Given the description of an element on the screen output the (x, y) to click on. 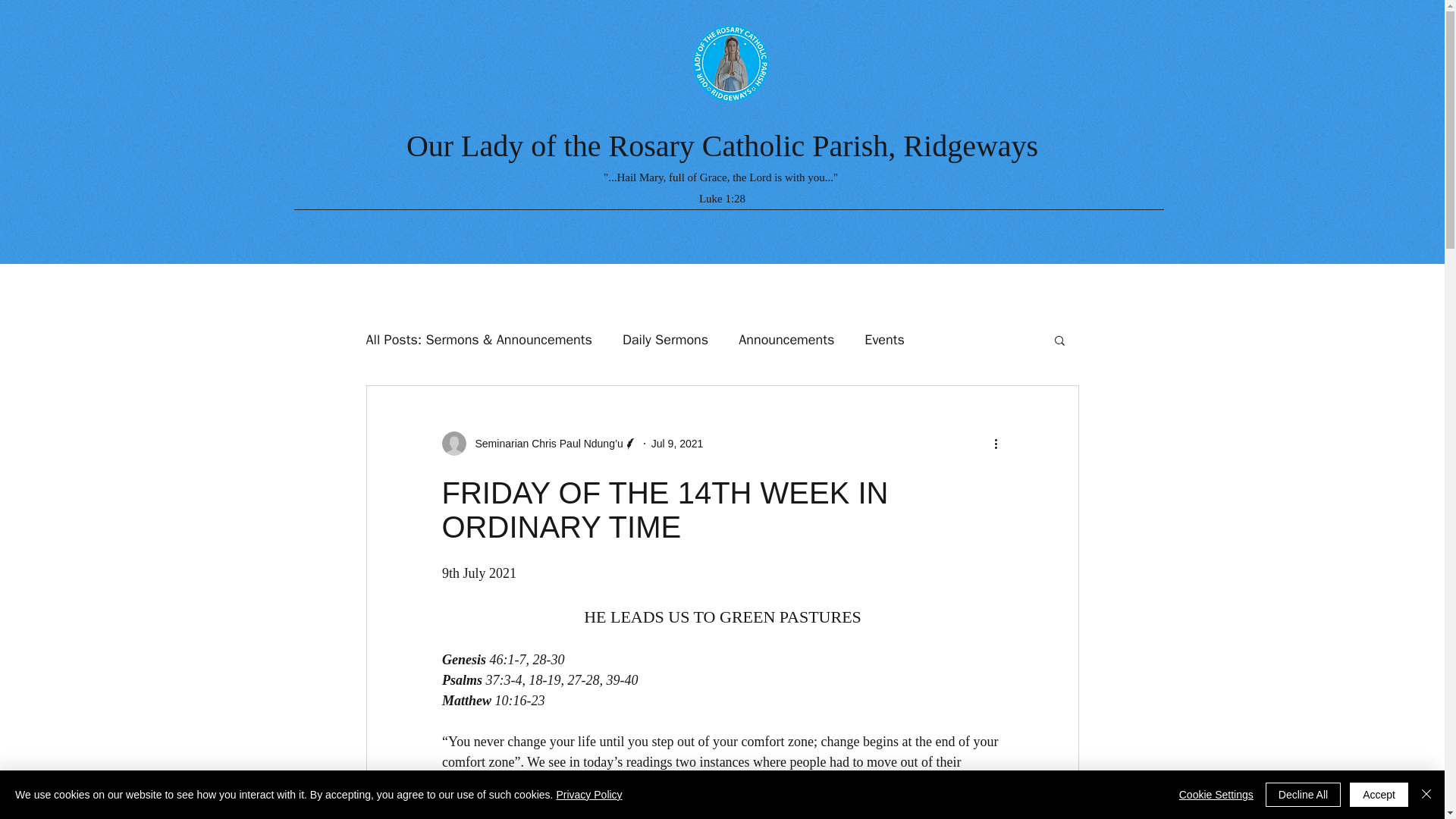
Our Lady of the Rosary Catholic Parish, Ridgeways (722, 145)
Events (884, 339)
Announcements (786, 339)
Jul 9, 2021 (676, 443)
Daily Sermons (665, 339)
